Given the description of an element on the screen output the (x, y) to click on. 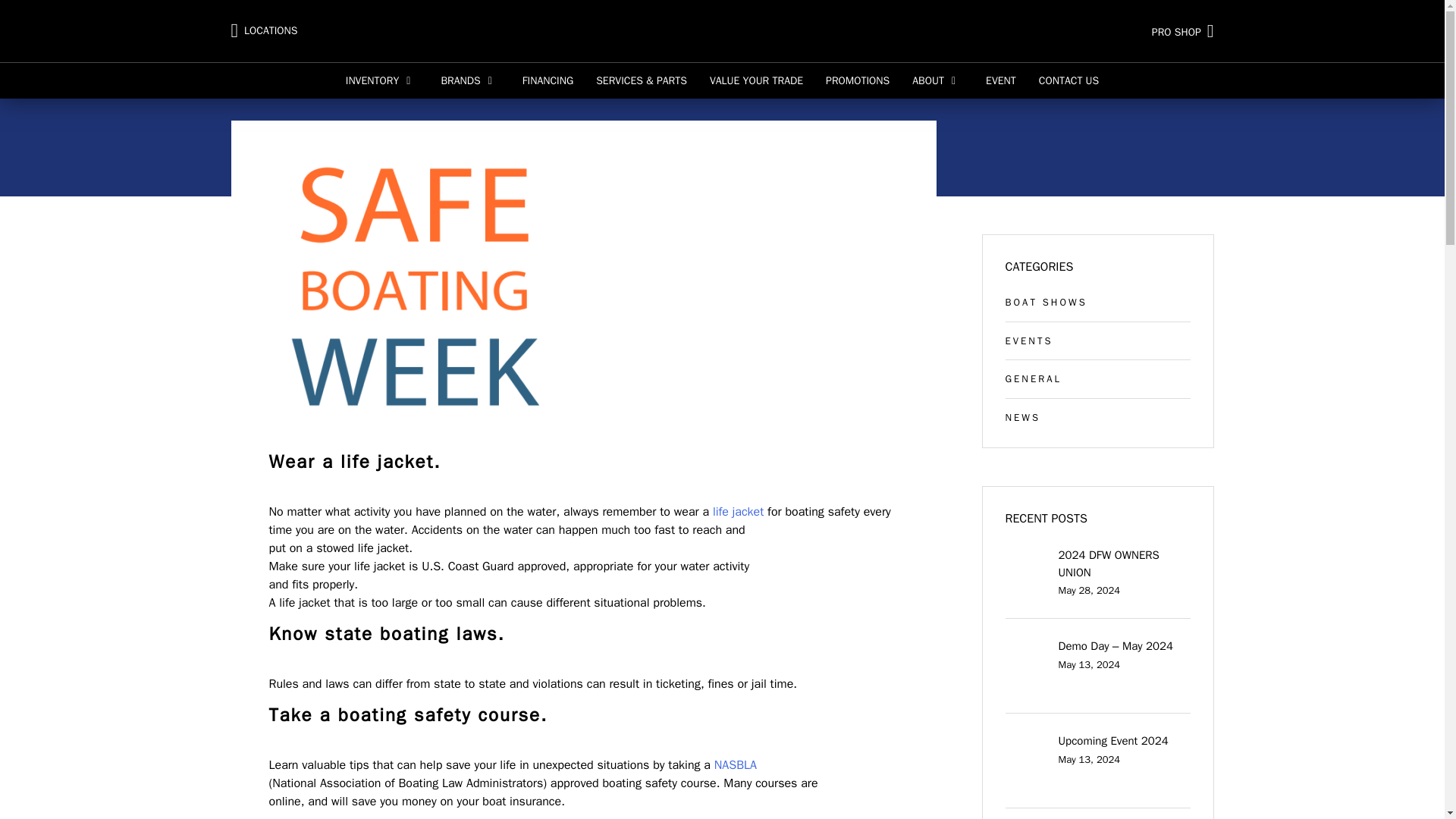
VALUE YOUR TRADE (755, 80)
PRO SHOP (1051, 31)
FINANCING (548, 80)
BRANDS (470, 80)
INVENTORY (381, 80)
LOCATIONS (263, 30)
